Given the description of an element on the screen output the (x, y) to click on. 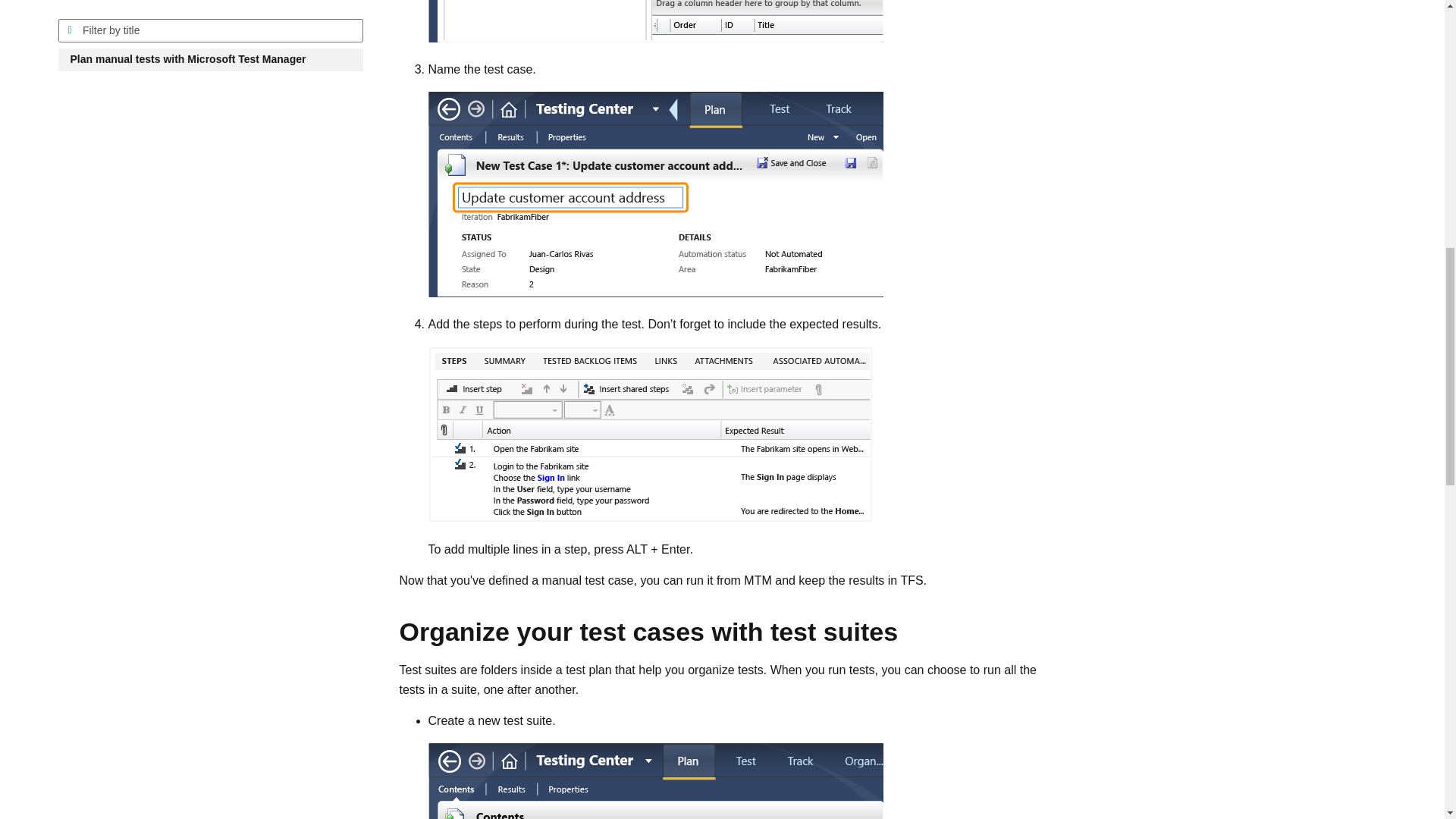
Define test case steps (649, 433)
Creating a new test suite (655, 780)
Plan manual tests with Microsoft Test Manager (210, 15)
Create a test case (655, 21)
Give the test case a title (655, 194)
